Given the description of an element on the screen output the (x, y) to click on. 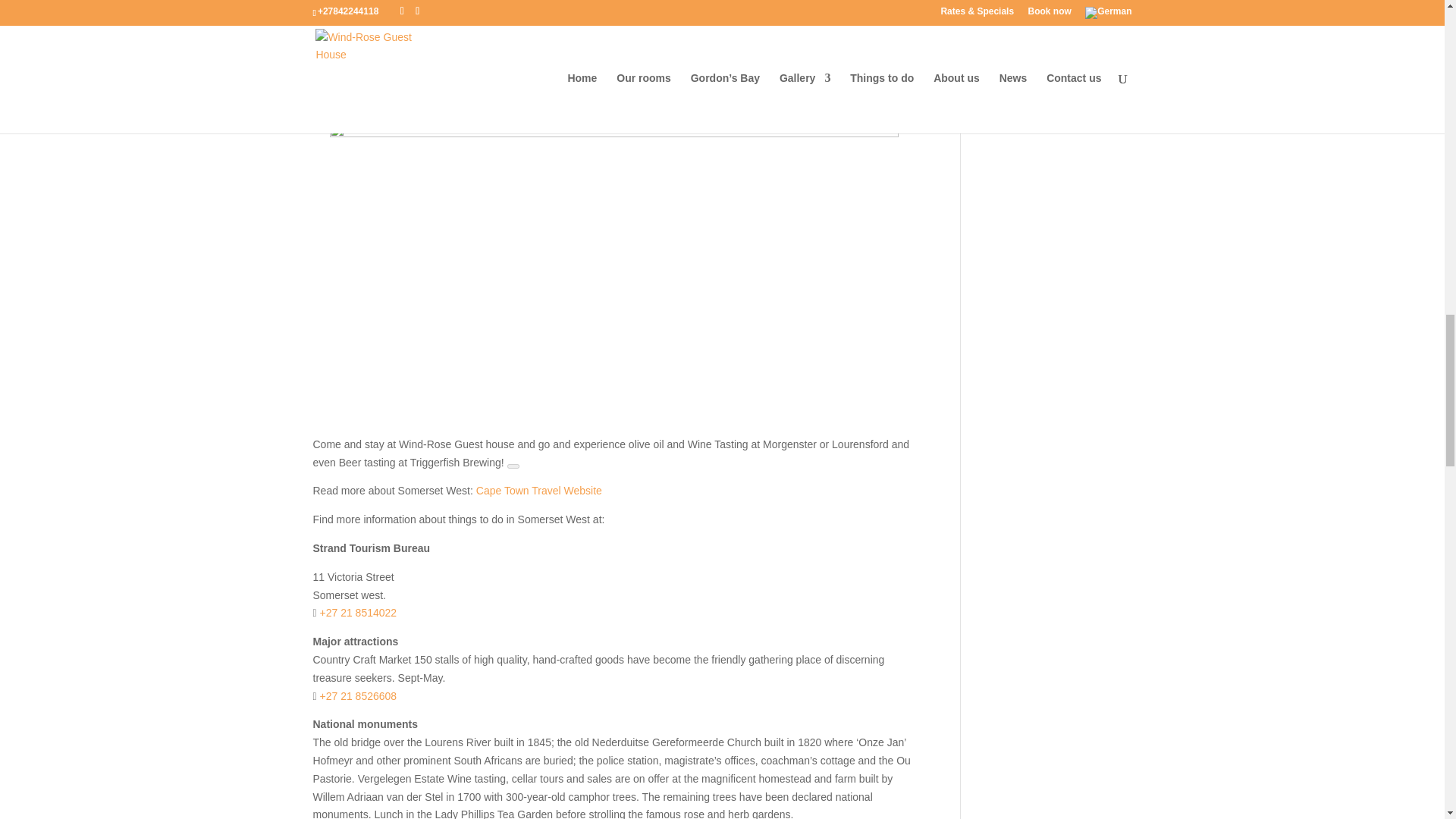
Cape Town Travel Website (539, 490)
